Given the description of an element on the screen output the (x, y) to click on. 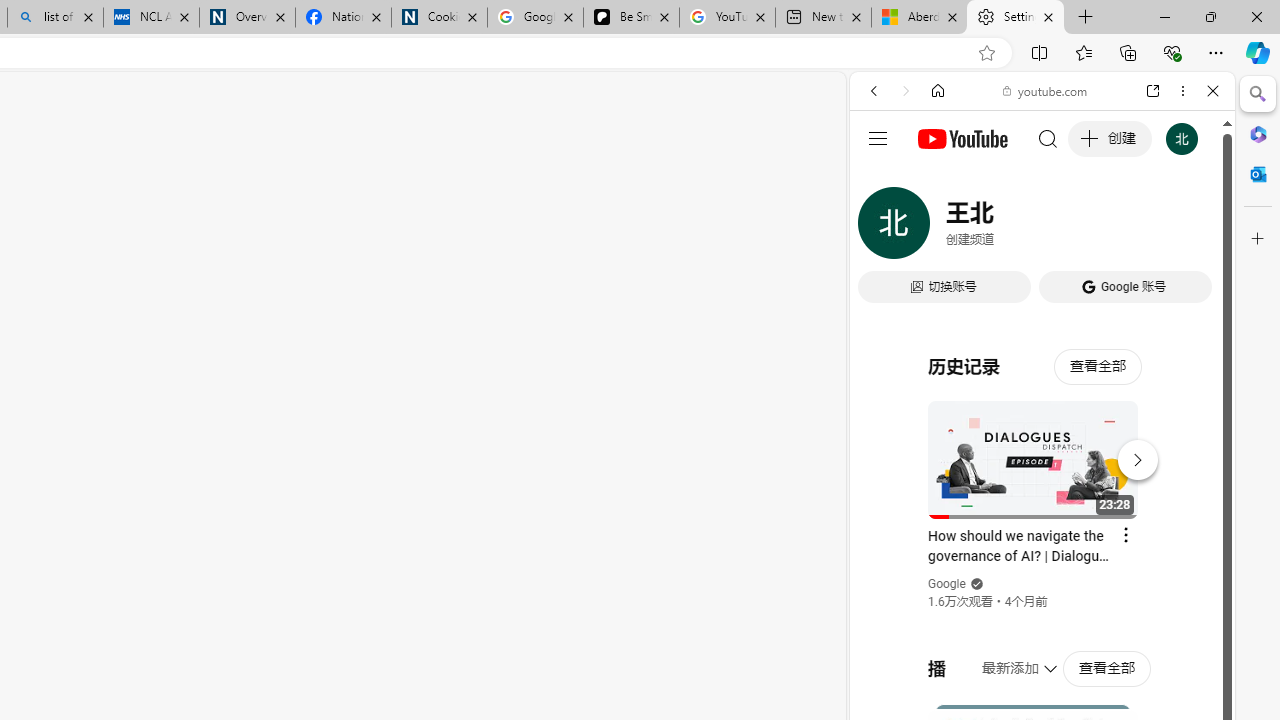
SEARCH TOOLS (1093, 228)
Music (1042, 543)
Preferences (1189, 228)
youtube.com (1046, 90)
